Given the description of an element on the screen output the (x, y) to click on. 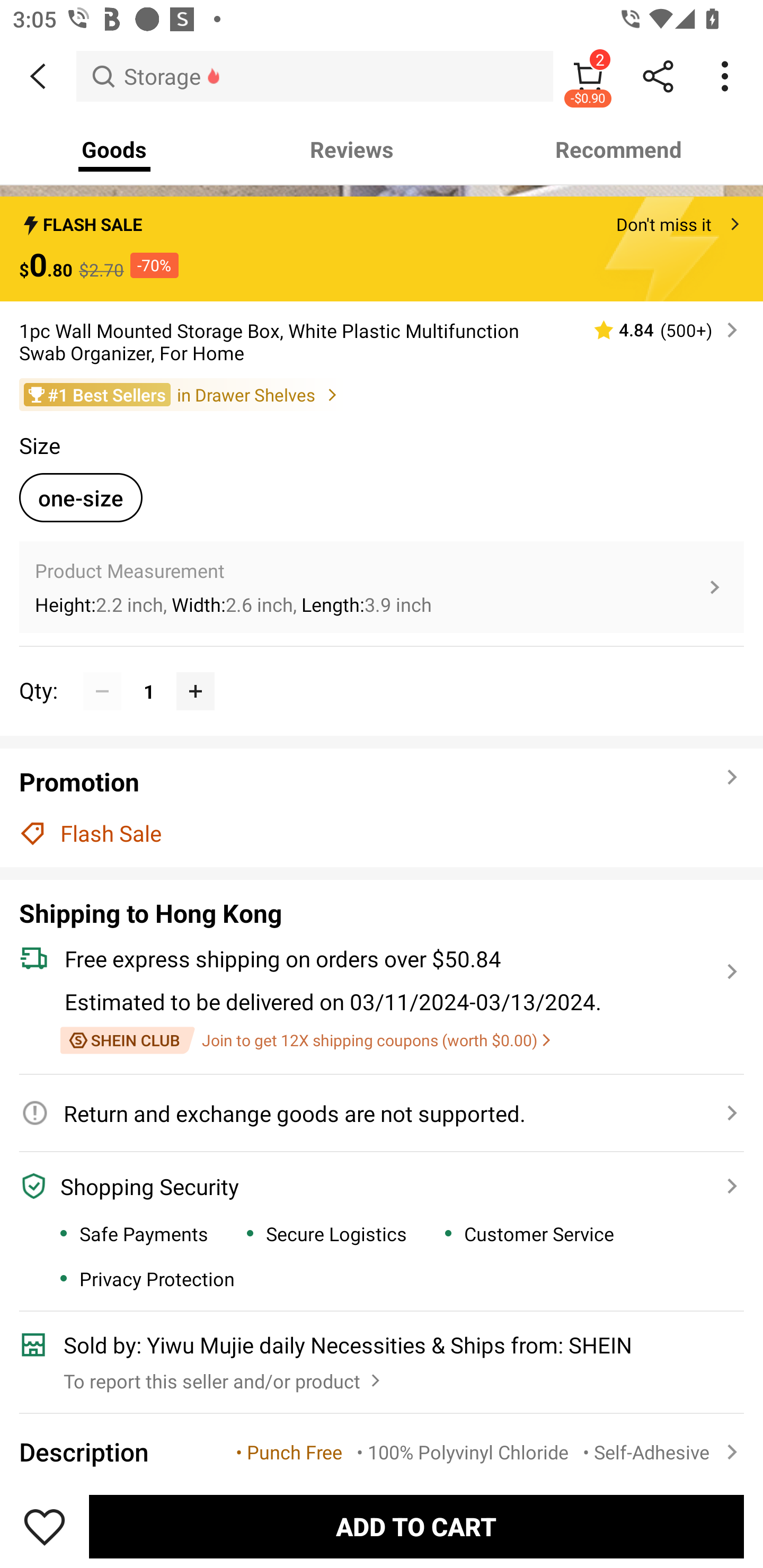
BACK (38, 75)
2 -$0.90 (588, 75)
Storage (314, 75)
Goods (114, 149)
Reviews (351, 149)
Recommend (618, 149)
FLASH SALE Don't miss it $0.80 $2.70 -70% (381, 248)
FLASH SALE Don't miss it (381, 219)
4.84 (500‎+) (658, 329)
#1 Best Sellers in Drawer Shelves (381, 393)
Size (39, 444)
one-size one-sizeselected option (80, 497)
Qty: 1 (381, 671)
Promotion Flash Sale (381, 807)
Join to get 12X shipping coupons (worth $0.00) (305, 1040)
Return and exchange goods are not supported. (370, 1112)
To report this seller and/or product   (224, 1376)
ADD TO CART (416, 1526)
Save (44, 1526)
